Given the description of an element on the screen output the (x, y) to click on. 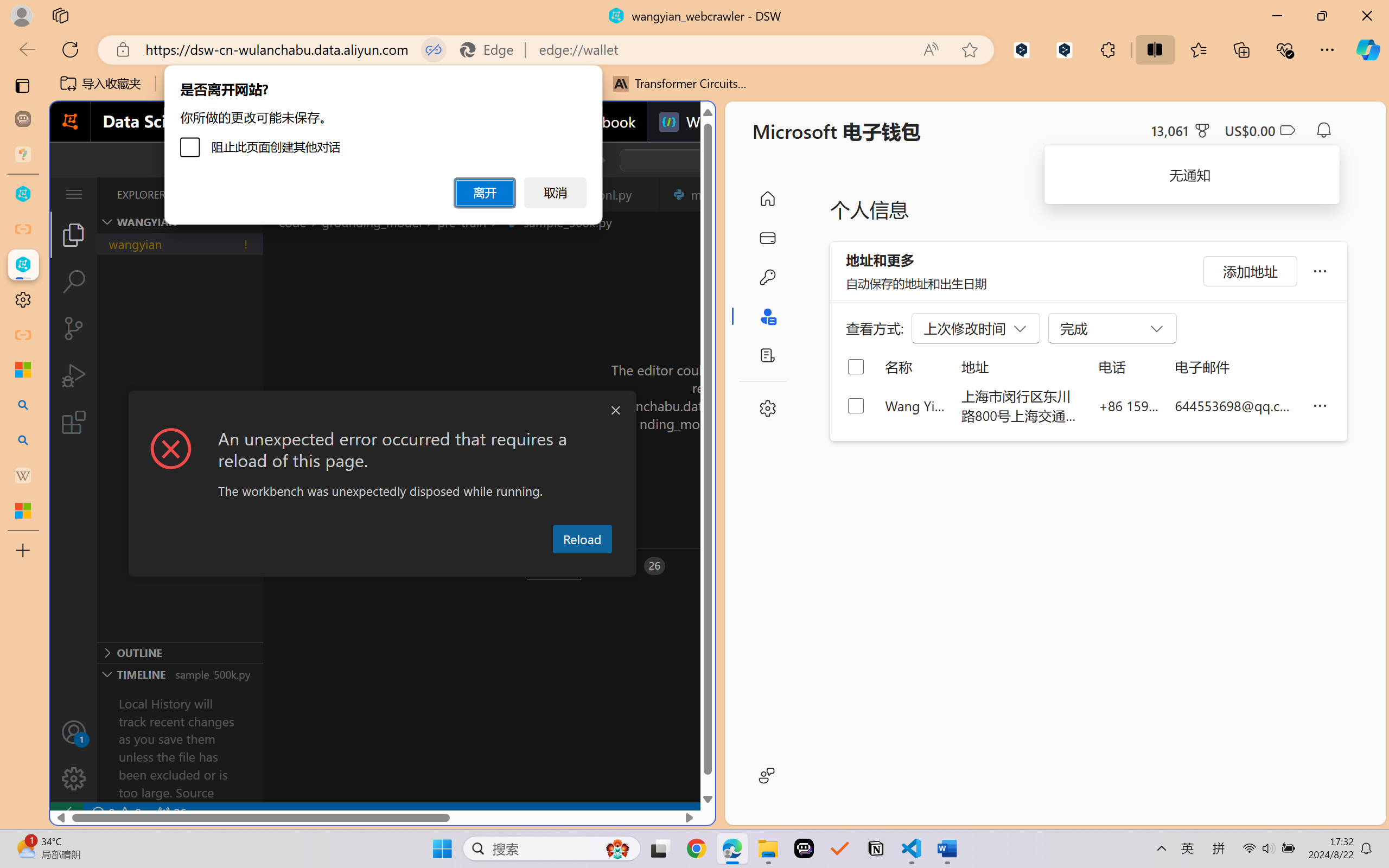
Class: actions-container (381, 410)
Google Chrome (696, 848)
